Given the description of an element on the screen output the (x, y) to click on. 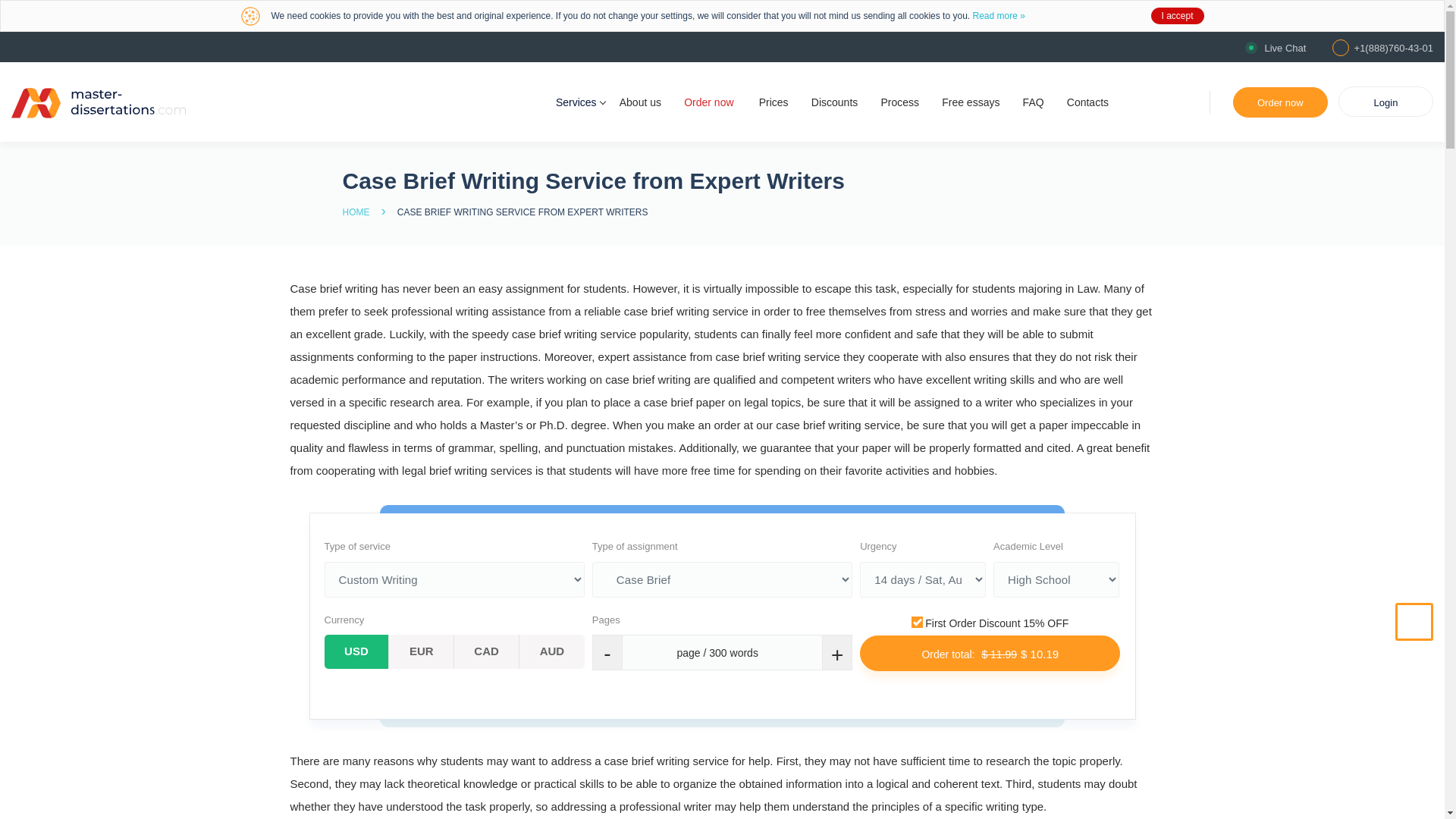
Prices (773, 102)
Free essays (970, 102)
I accept (1177, 15)
Process (899, 102)
Master-Dissertations.com (99, 102)
EUR (421, 651)
FAQ (1033, 102)
AUD (552, 651)
Log in (1385, 101)
CAD (486, 651)
Order now (1280, 101)
Order now (709, 102)
Contacts (1087, 102)
USD (357, 651)
About us (640, 102)
